Given the description of an element on the screen output the (x, y) to click on. 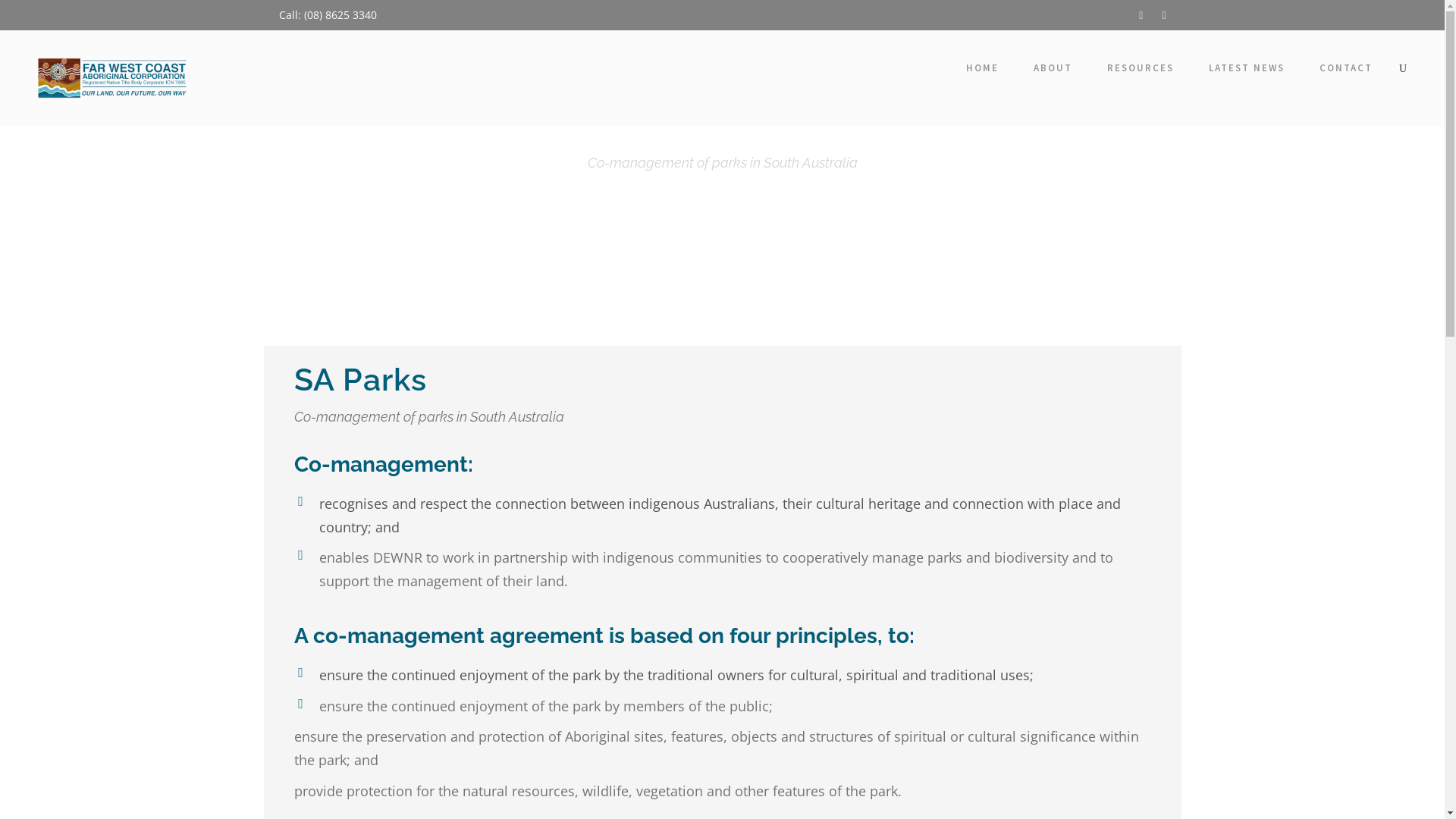
fwcac-2015 Element type: hover (113, 77)
RESOURCES Element type: text (1140, 71)
LATEST NEWS Element type: text (1246, 71)
HOME Element type: text (982, 71)
CONTACT Element type: text (1345, 71)
ABOUT Element type: text (1052, 71)
email Element type: hover (1140, 14)
facebook Element type: hover (1163, 14)
